Given the description of an element on the screen output the (x, y) to click on. 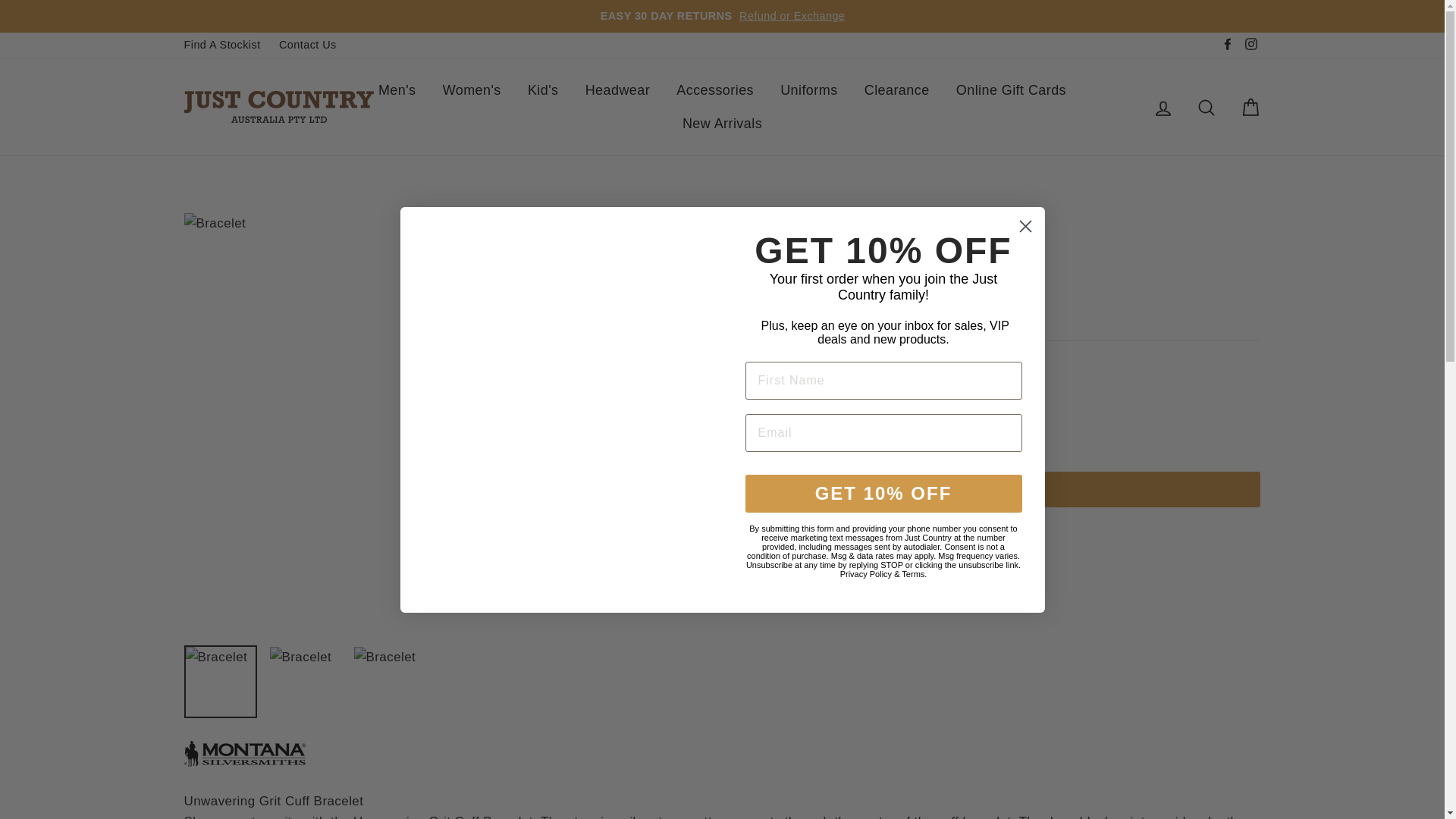
1 (957, 408)
Share on Facebook (957, 539)
